Given the description of an element on the screen output the (x, y) to click on. 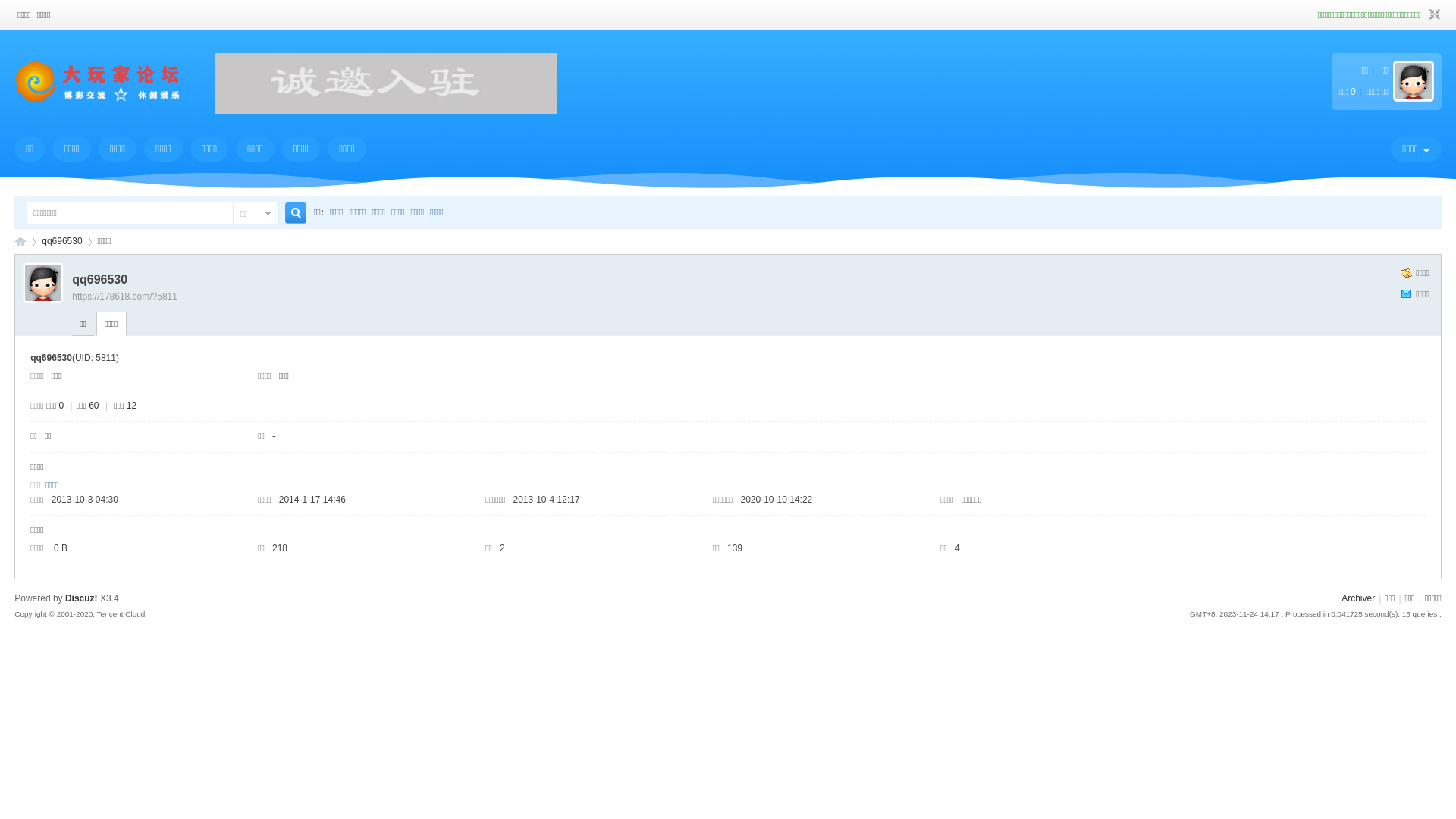
qq696530 Element type: text (61, 241)
https://178618.com/?5811 Element type: text (124, 296)
true Element type: text (290, 213)
Archiver Element type: text (1357, 598)
Discuz! Element type: text (81, 598)
